Given the description of an element on the screen output the (x, y) to click on. 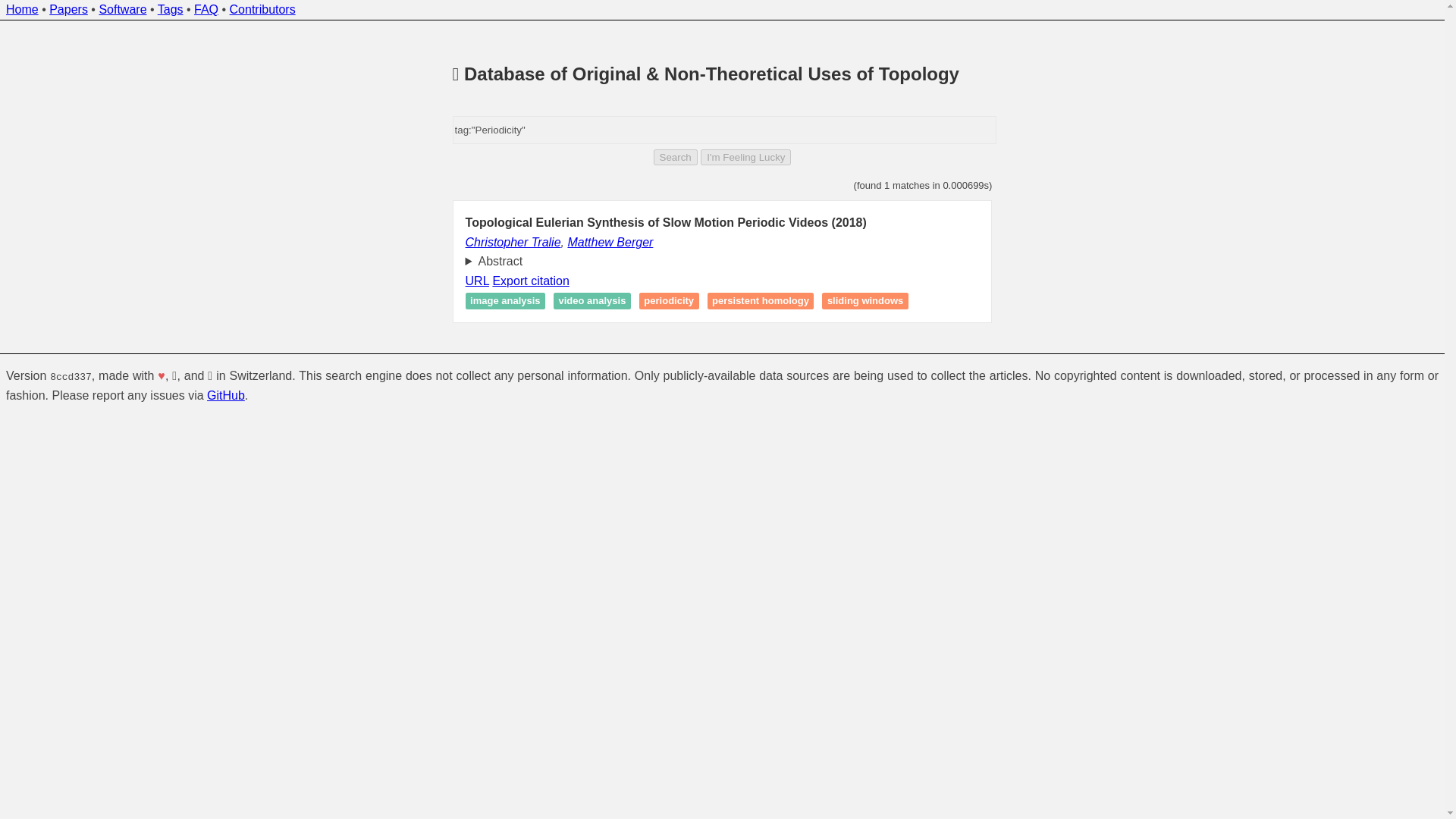
Papers (68, 9)
Matthew Berger (609, 241)
FAQ (205, 9)
Contributors (262, 9)
video analysis (592, 301)
URL (477, 280)
sliding windows (864, 301)
I'm Feeling Lucky (745, 157)
periodicity (668, 301)
Christopher Tralie (512, 241)
Tags (170, 9)
Search (675, 157)
Export citation (530, 280)
image analysis (505, 301)
tag:"Periodicity" (724, 130)
